Given the description of an element on the screen output the (x, y) to click on. 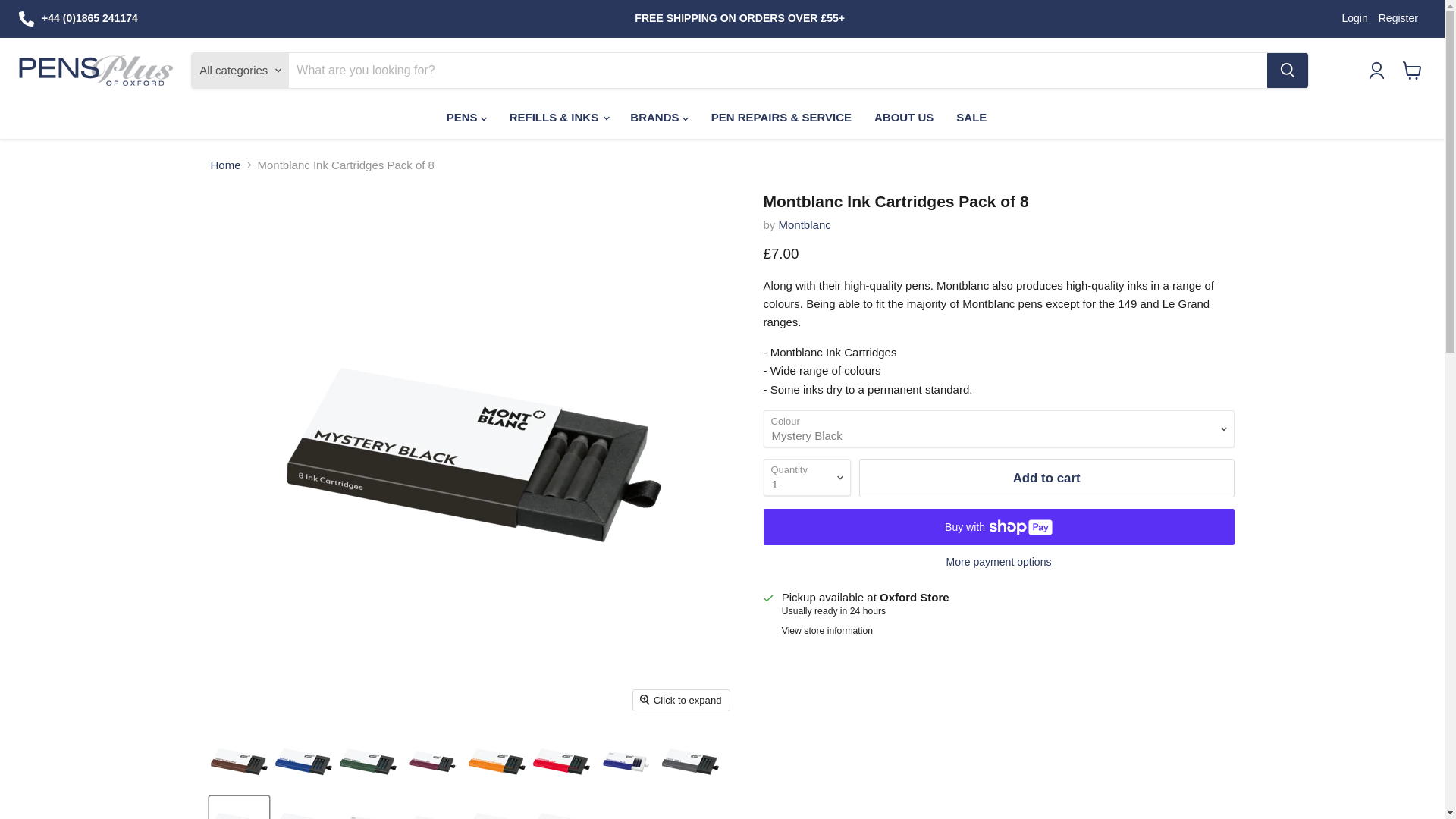
Login (1353, 18)
Montblanc (804, 224)
Register (1398, 18)
View cart (1411, 70)
